Given the description of an element on the screen output the (x, y) to click on. 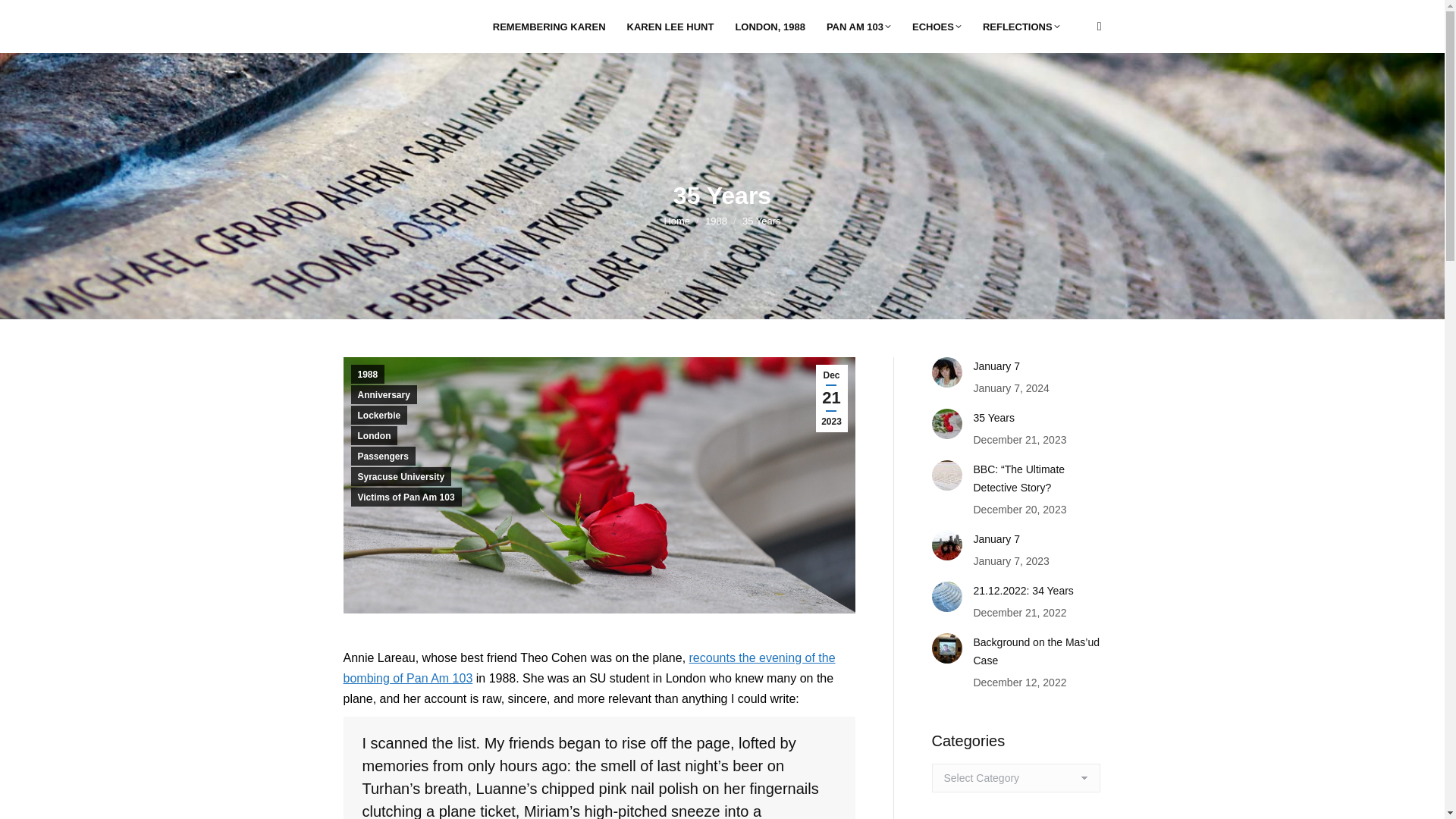
LONDON, 1988 (769, 26)
Go! (23, 15)
PAN AM 103 (858, 26)
1988 (715, 220)
REMEMBERING KAREN (548, 26)
Home (676, 220)
REFLECTIONS (1021, 26)
ECHOES (936, 26)
KAREN LEE HUNT (670, 26)
